Given the description of an element on the screen output the (x, y) to click on. 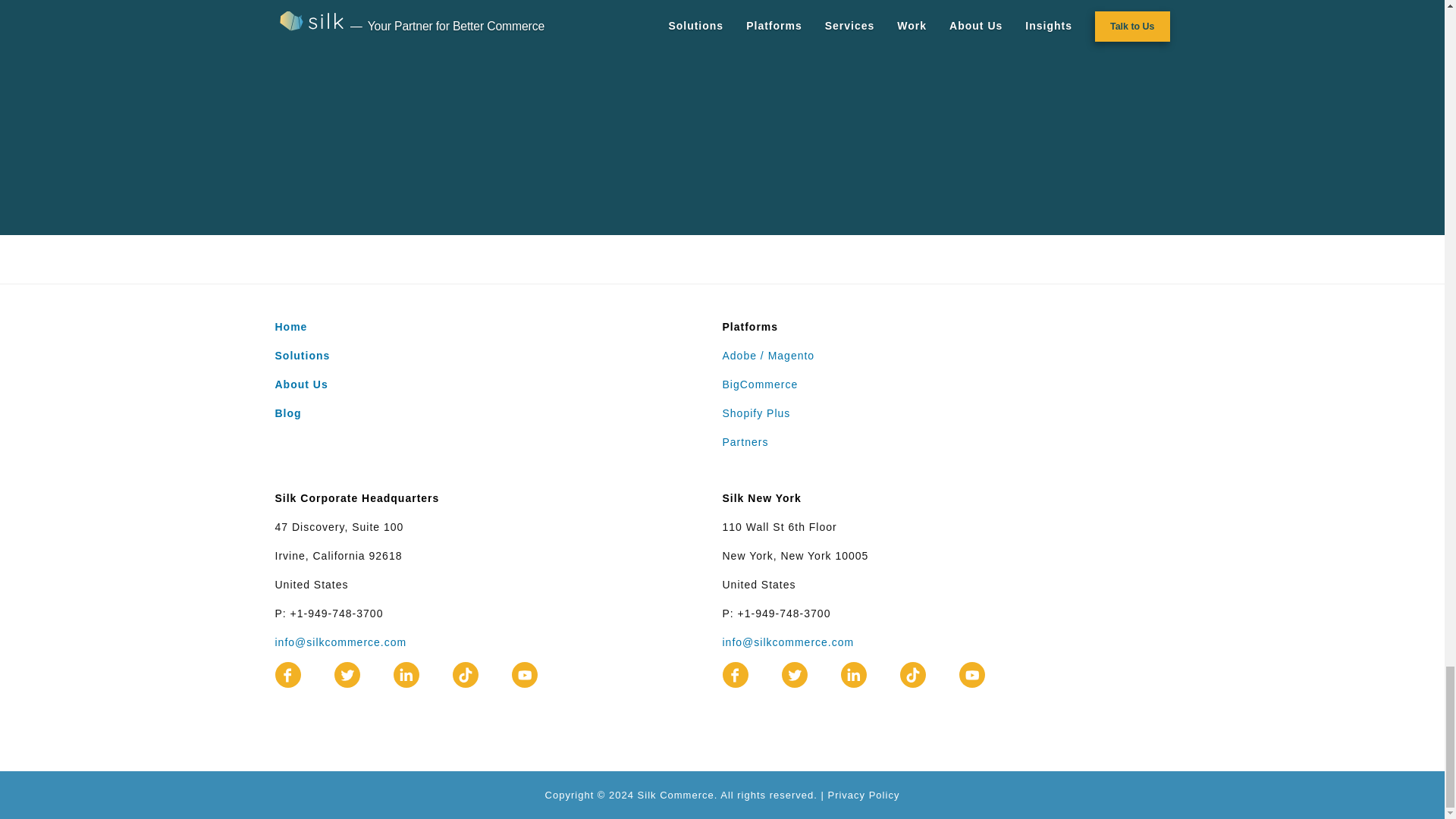
Form 0 (722, 79)
